Given the description of an element on the screen output the (x, y) to click on. 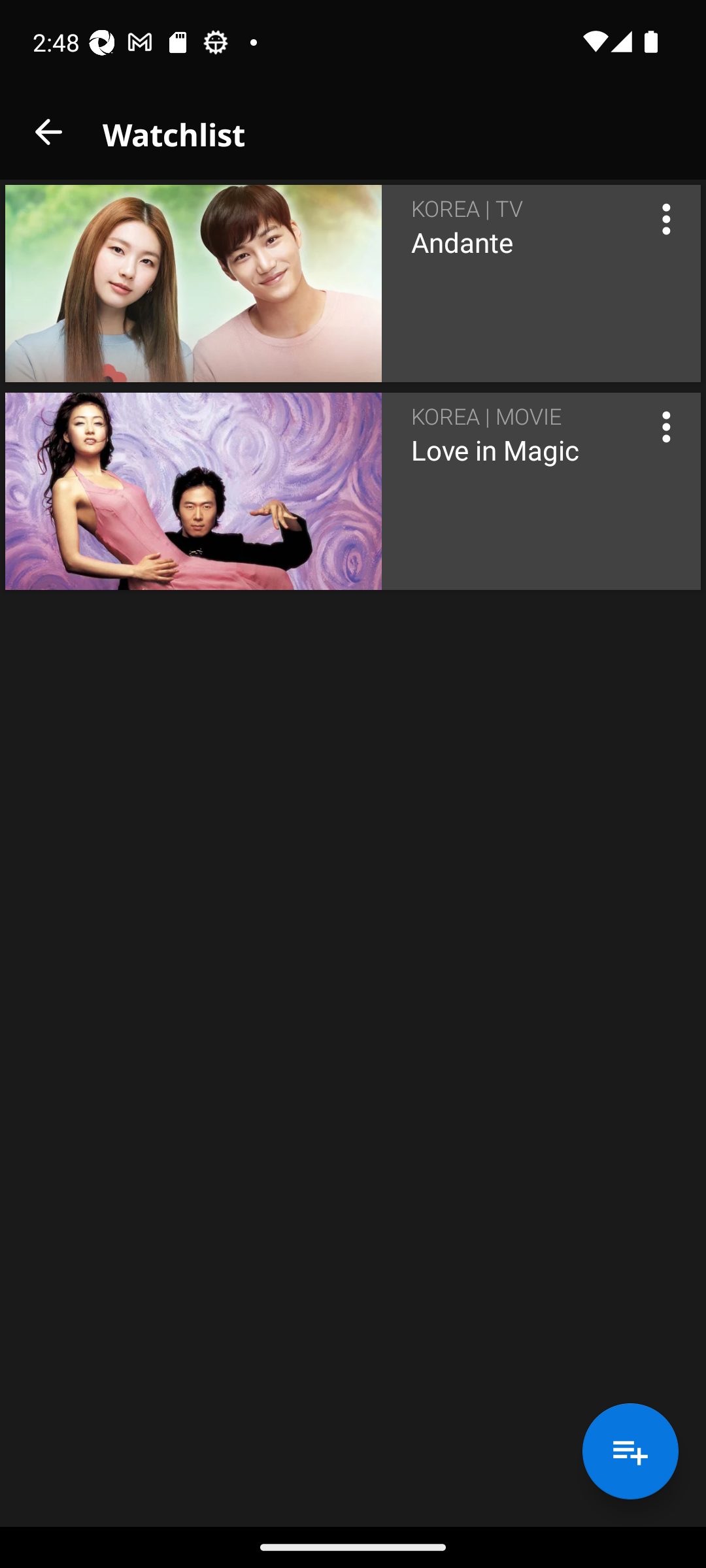
close_button (48, 131)
resource_cell KOREA | TV Andante (353, 283)
resource_cell KOREA | MOVIE Love in Magic (353, 491)
